Given the description of an element on the screen output the (x, y) to click on. 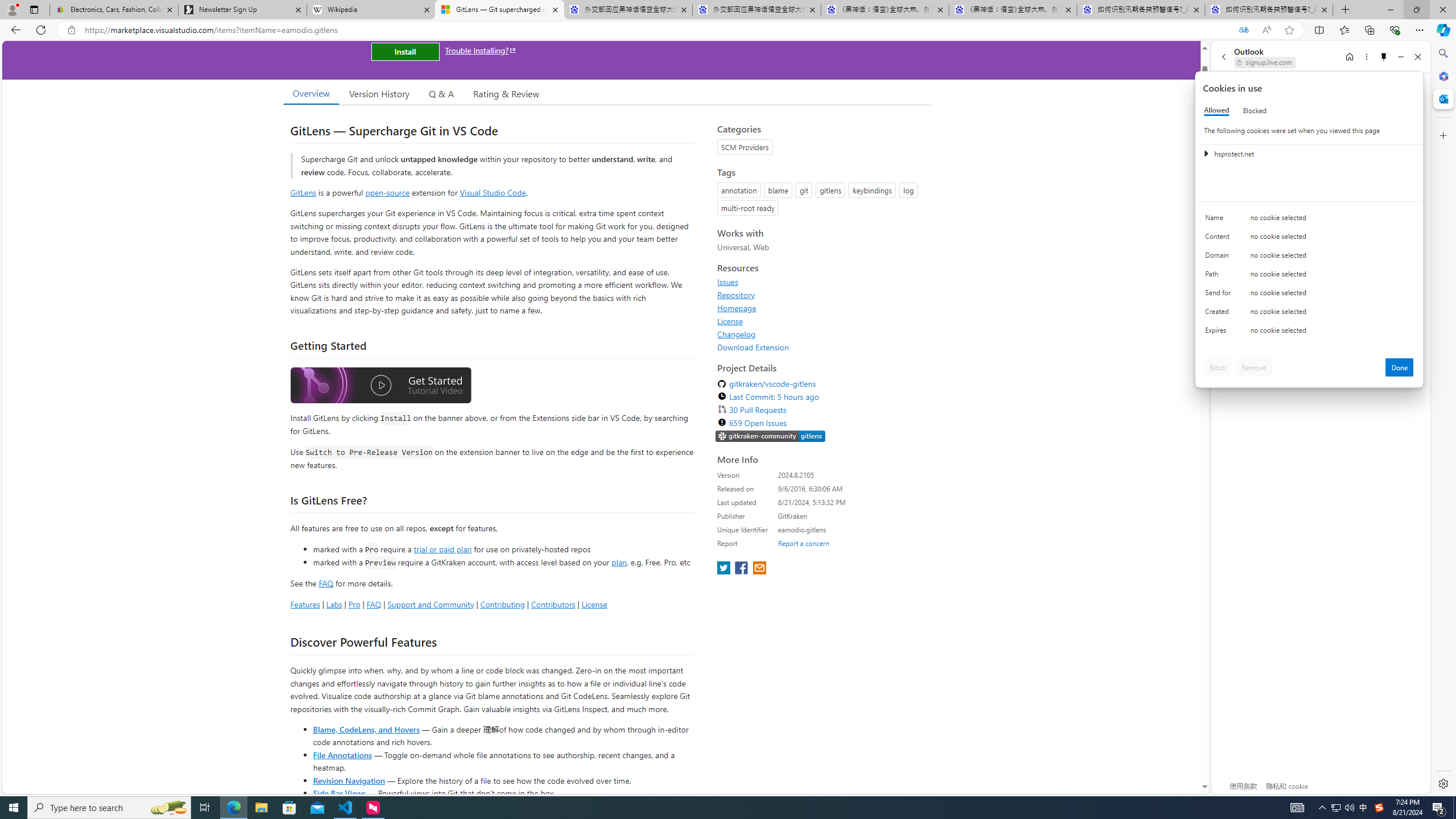
Blame, CodeLens, and Hovers (366, 728)
Homepage (820, 307)
Issues (820, 281)
no cookie selected (1331, 332)
share extension on email (759, 568)
Install (405, 51)
Microsoft (1255, 93)
trial or paid plan (442, 548)
Changelog (820, 333)
